Given the description of an element on the screen output the (x, y) to click on. 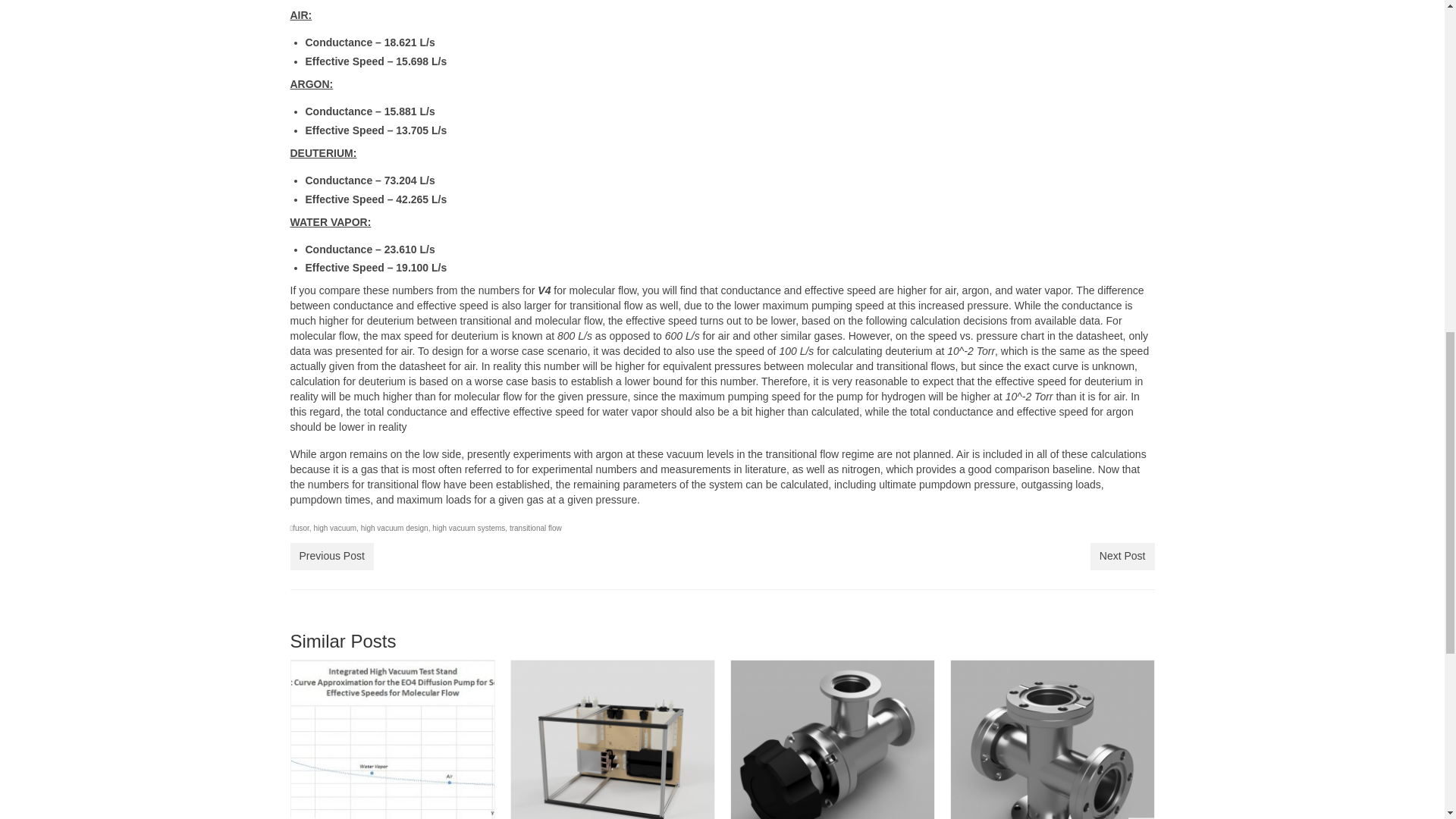
high vacuum (334, 528)
high vacuum design (394, 528)
fusor (300, 528)
